Given the description of an element on the screen output the (x, y) to click on. 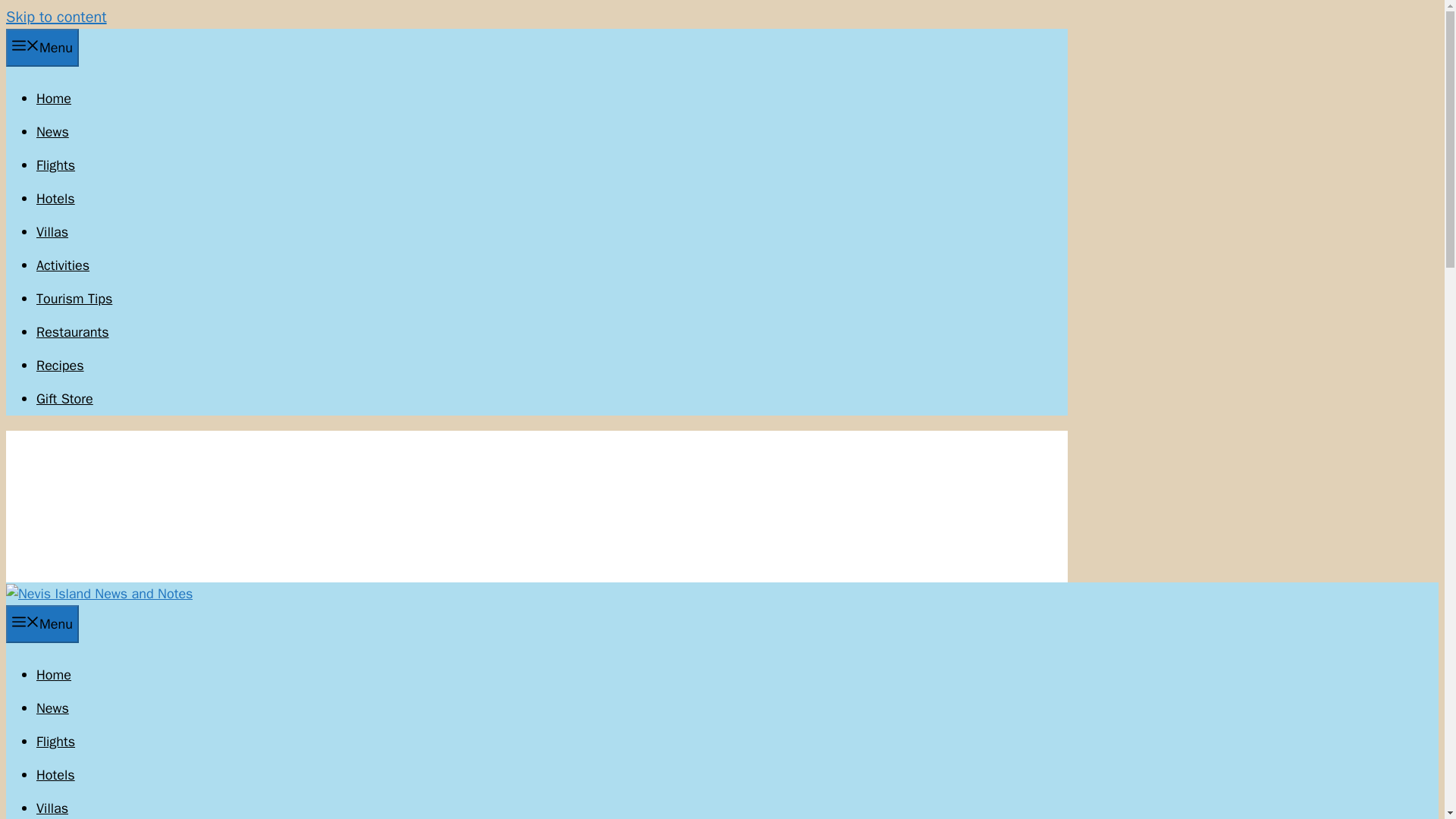
News (52, 708)
Flights (55, 741)
Recipes (60, 365)
Nevis Activities and Events Calendar (62, 265)
Activities (62, 265)
Skip to content (55, 16)
Nevis Restaurants (72, 331)
Skip to content (55, 16)
Luxury Nevis Hotels (55, 198)
Nevis Island News and Notes (98, 593)
